Given the description of an element on the screen output the (x, y) to click on. 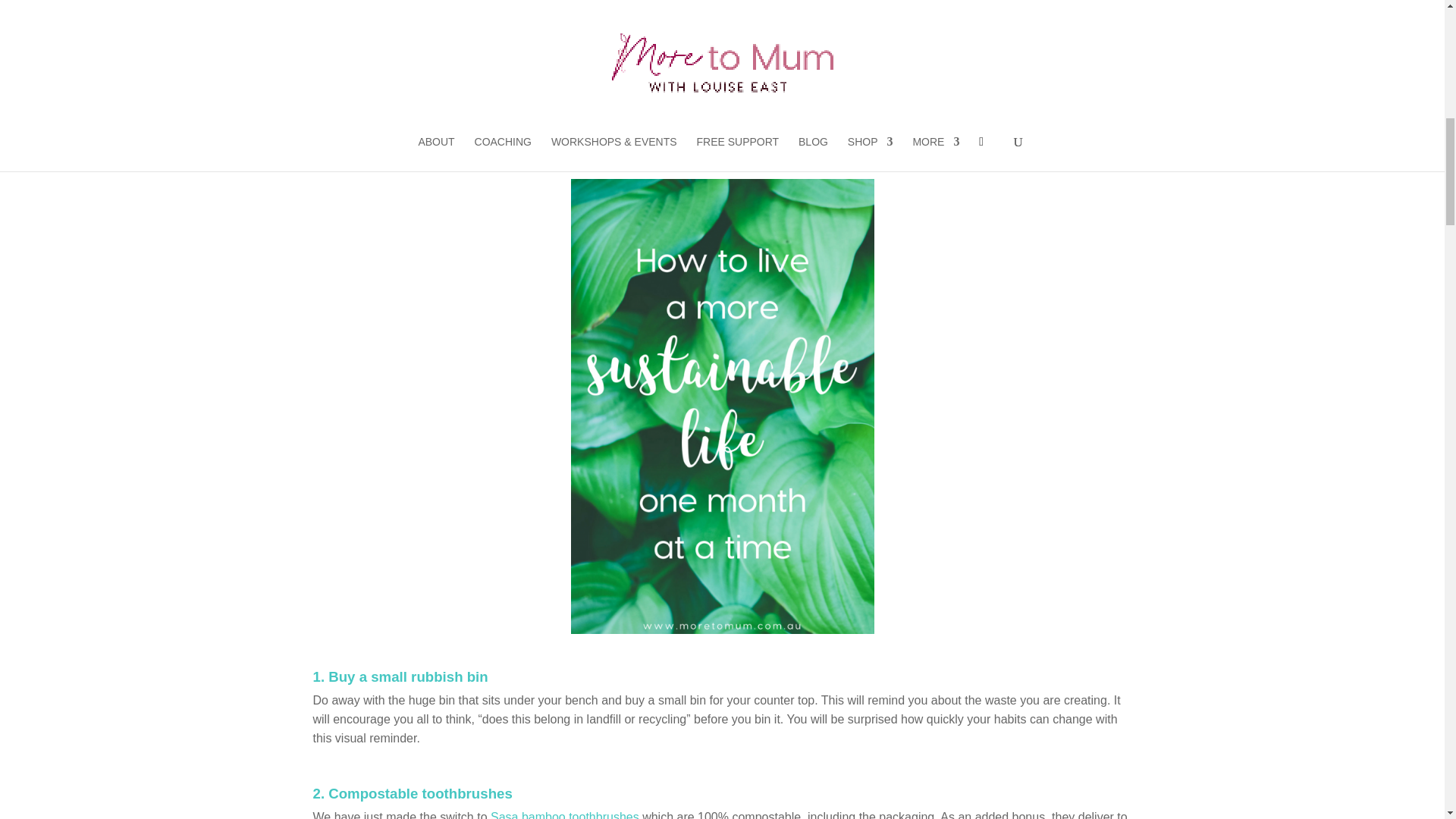
Sasa bamboo toothbrushes (564, 814)
